Given the description of an element on the screen output the (x, y) to click on. 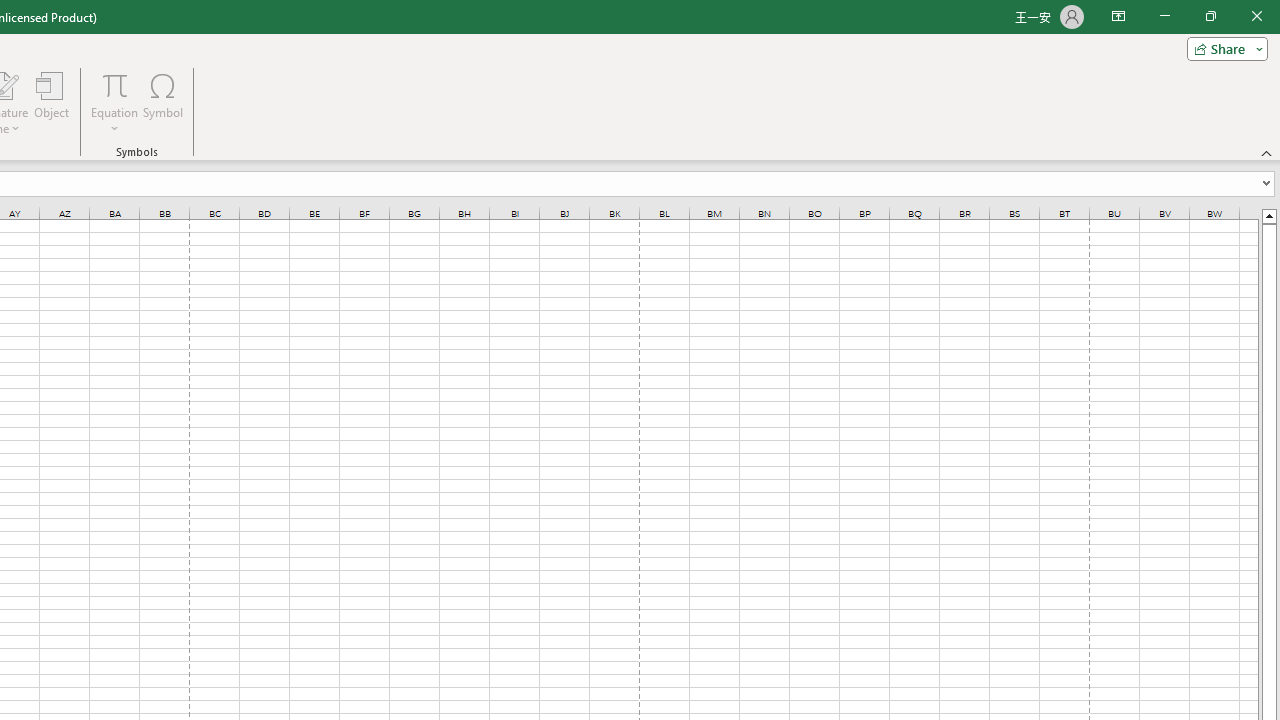
Symbol... (162, 102)
Object... (51, 102)
